Given the description of an element on the screen output the (x, y) to click on. 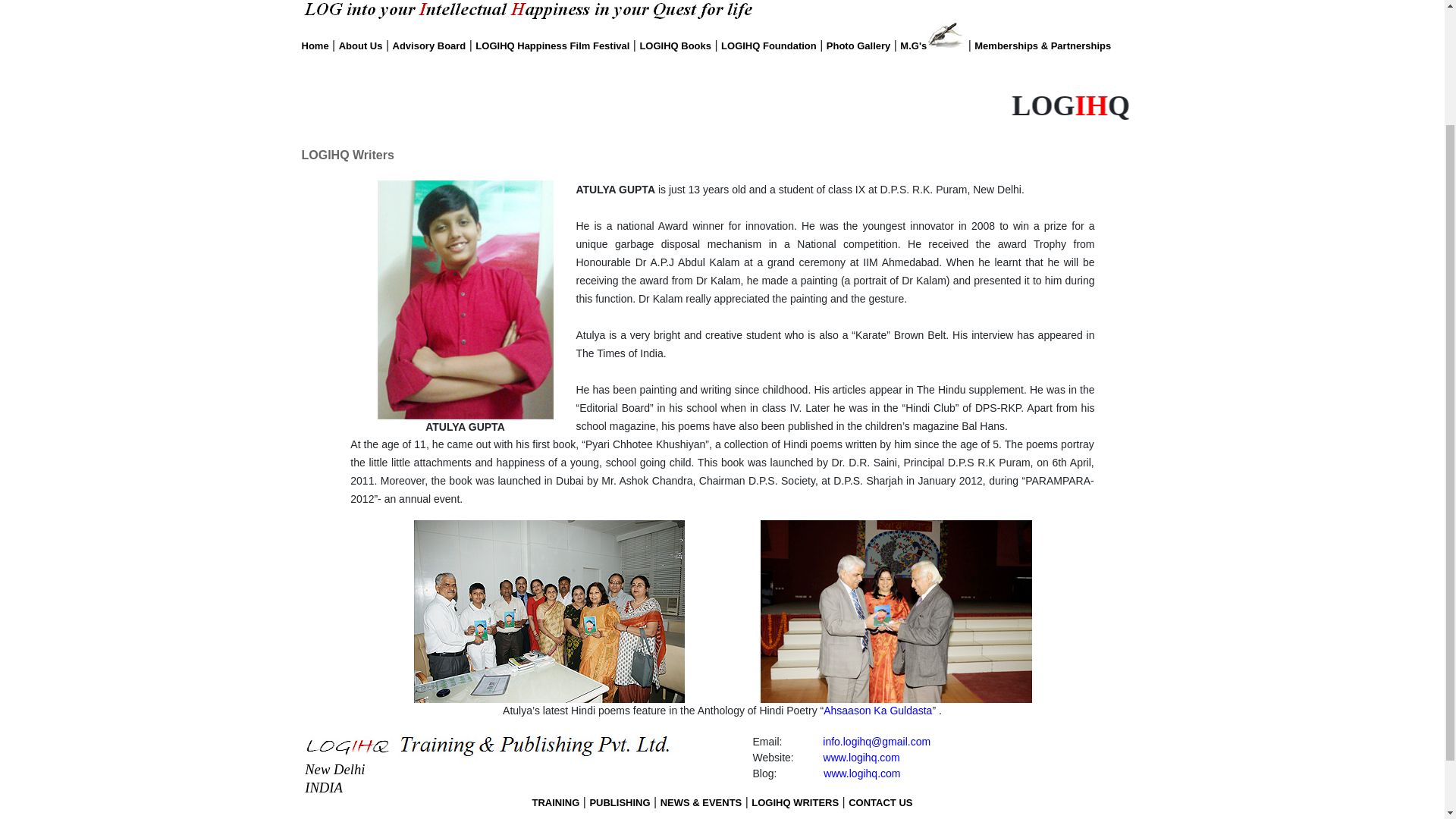
LOGIHQ (1174, 105)
CONTACT US (880, 802)
LOGIHQ  International H (721, 107)
LOGIHQ Happiness Film Festival (552, 45)
PUBLISHING (619, 802)
LOGIHQ Foundation (768, 45)
www.logihq.com (861, 757)
LOGIHQ Books (675, 45)
M.G's (912, 45)
International (1325, 105)
Ahsaason Ka Guldasta (877, 710)
www.logihq.com (861, 773)
LOGIHQ  International H (721, 104)
TRAINING (555, 802)
Home (315, 45)
